Given the description of an element on the screen output the (x, y) to click on. 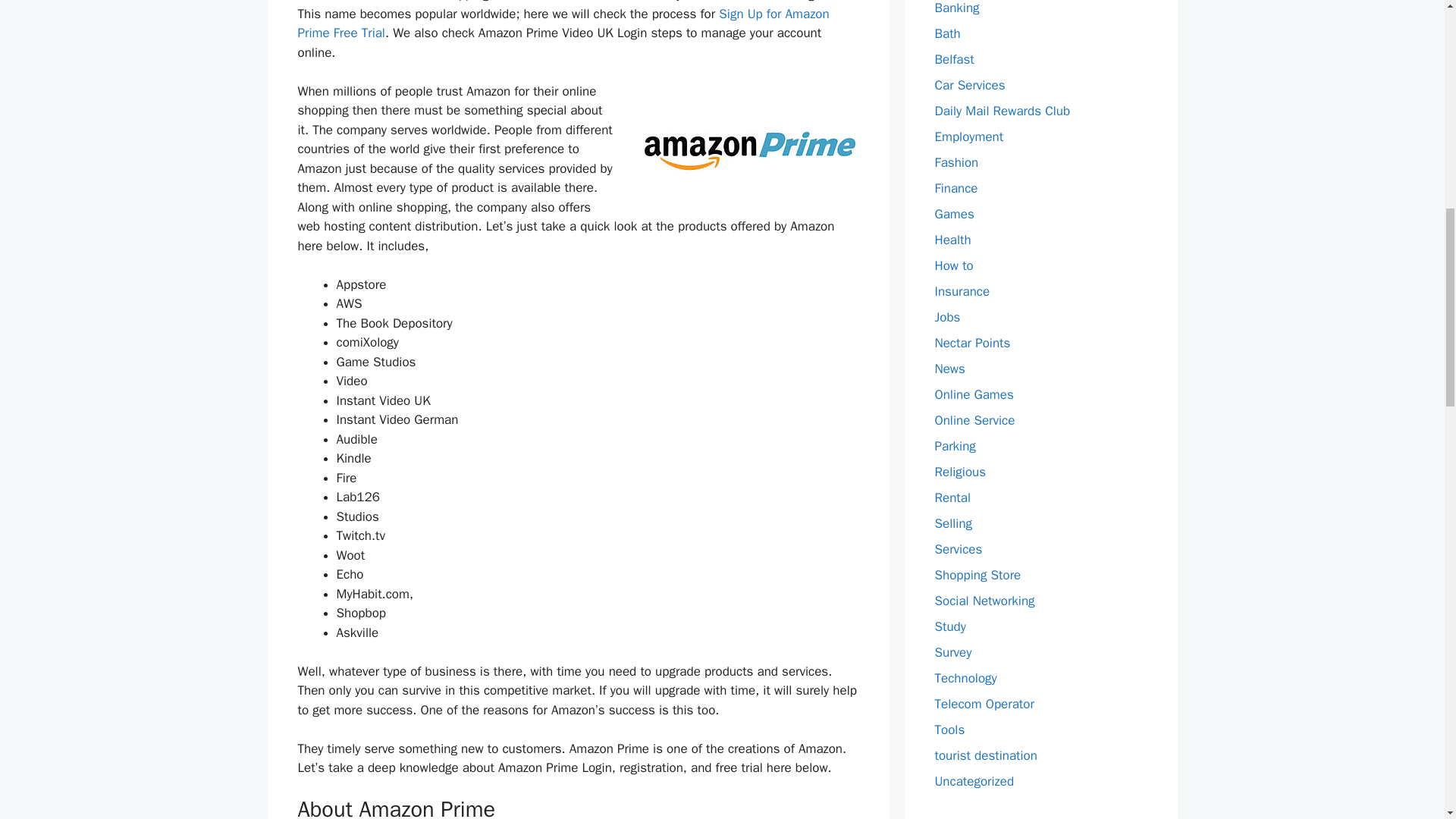
Daily Mail Rewards Club (1002, 110)
Sign Up for Amazon Prime Free Trial (562, 23)
Belfast (954, 59)
Car Services (969, 84)
Banking (956, 7)
Employment (968, 136)
Bath (946, 33)
